Given the description of an element on the screen output the (x, y) to click on. 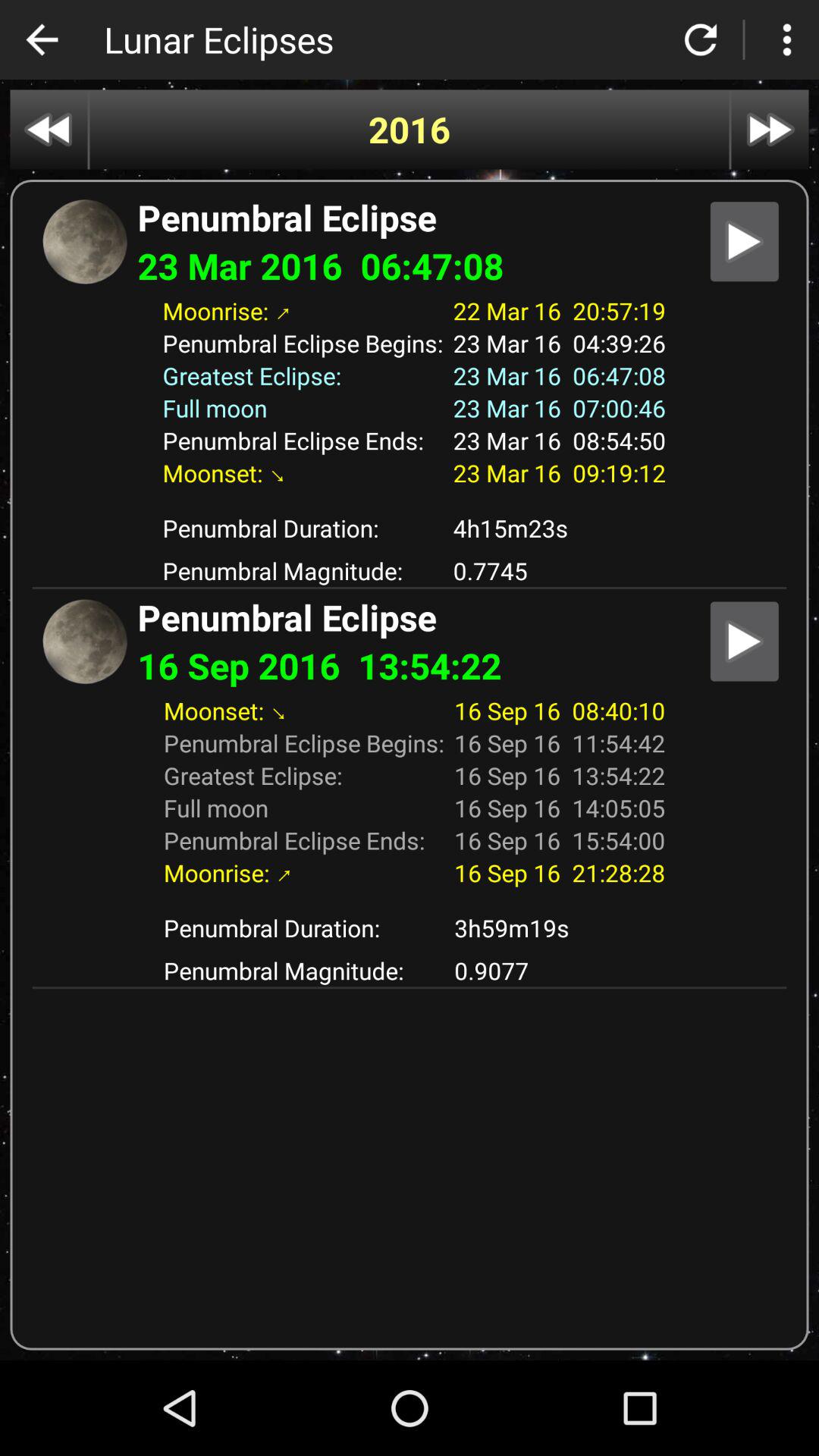
undo button (41, 39)
